Given the description of an element on the screen output the (x, y) to click on. 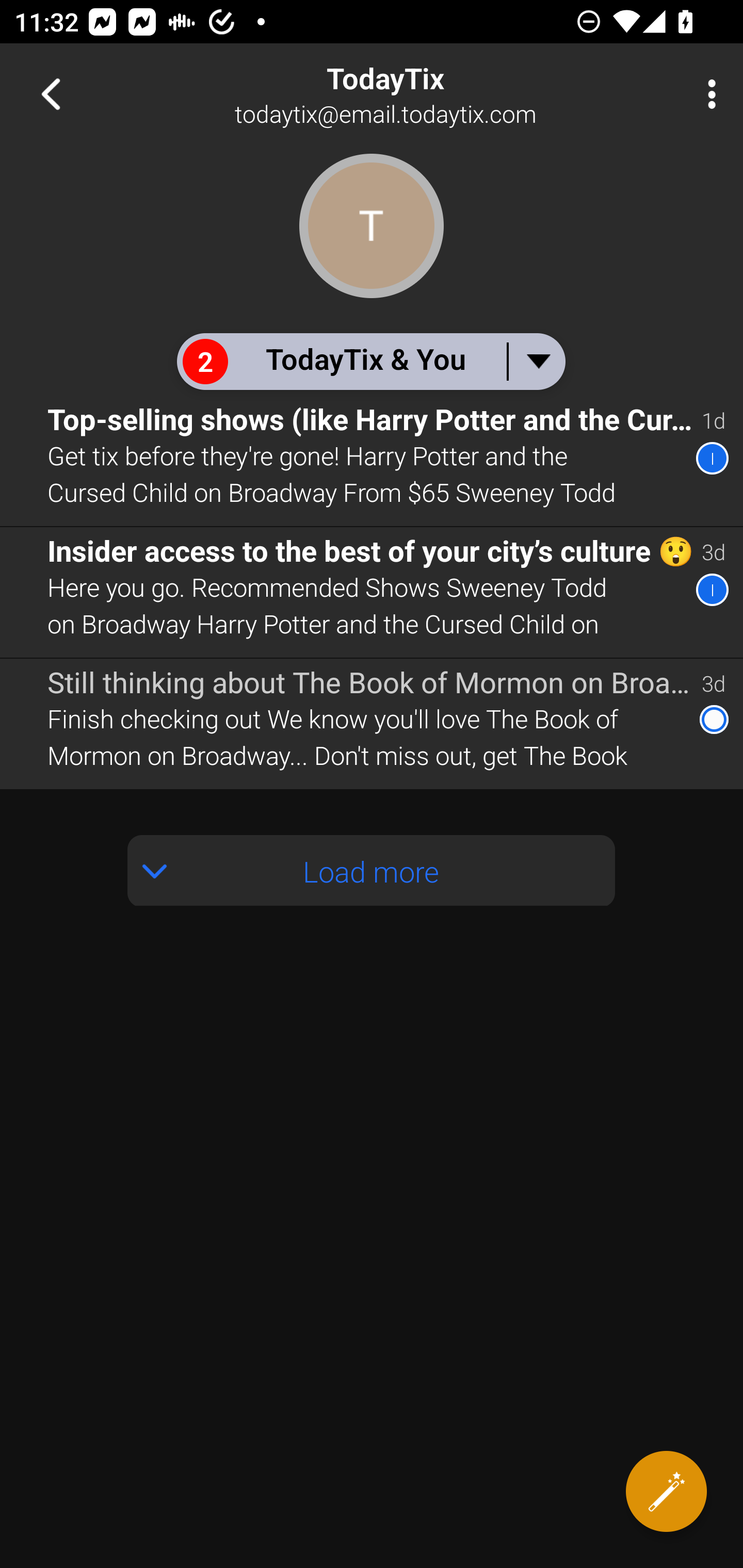
Navigate up (50, 93)
TodayTix todaytix@email.todaytix.com (436, 93)
More Options (706, 93)
2 TodayTix & You (370, 361)
Load more (371, 870)
